Given the description of an element on the screen output the (x, y) to click on. 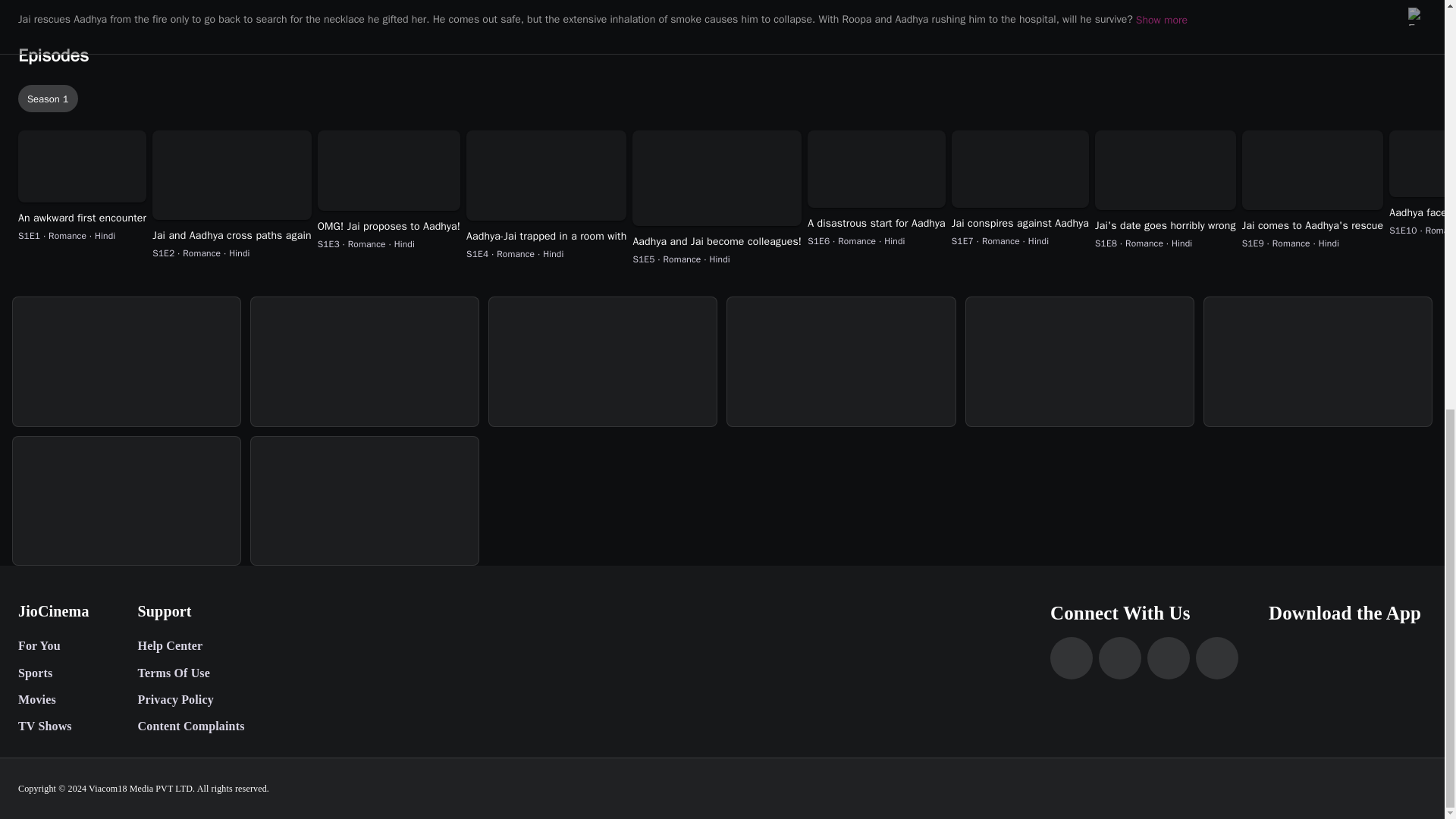
Jai conspires against Aadhya (1020, 223)
Jai's date goes horribly wrong (1165, 225)
An awkward first encounter (82, 218)
Season 1 (724, 97)
Sports (52, 672)
Jai and Aadhya cross paths again (231, 235)
Aadhya-Jai trapped in a room with (545, 236)
Season 1 (47, 98)
A disastrous start for Aadhya (876, 223)
OMG! Jai proposes to Aadhya! (388, 226)
